Given the description of an element on the screen output the (x, y) to click on. 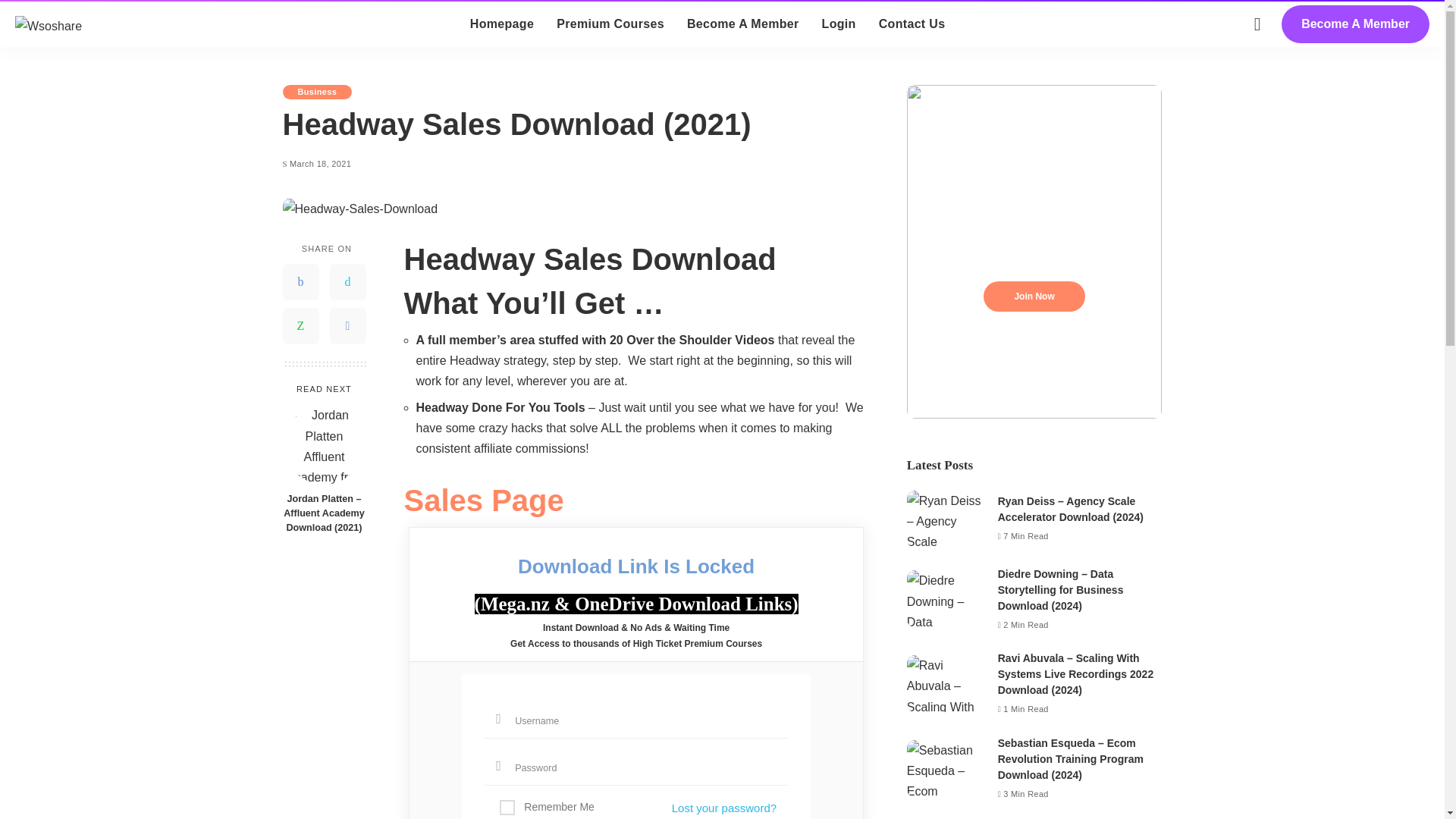
Business (317, 92)
Login (838, 23)
Become A Member (742, 23)
forever (507, 807)
Twitter (347, 281)
Contact Us (911, 23)
Wsoshare (47, 23)
Facebook (300, 281)
Homepage (501, 23)
WhatsApp (300, 325)
Become A Member (1355, 23)
Telegram (347, 325)
Premium Courses (609, 23)
Search (1408, 5)
Search (1408, 66)
